Given the description of an element on the screen output the (x, y) to click on. 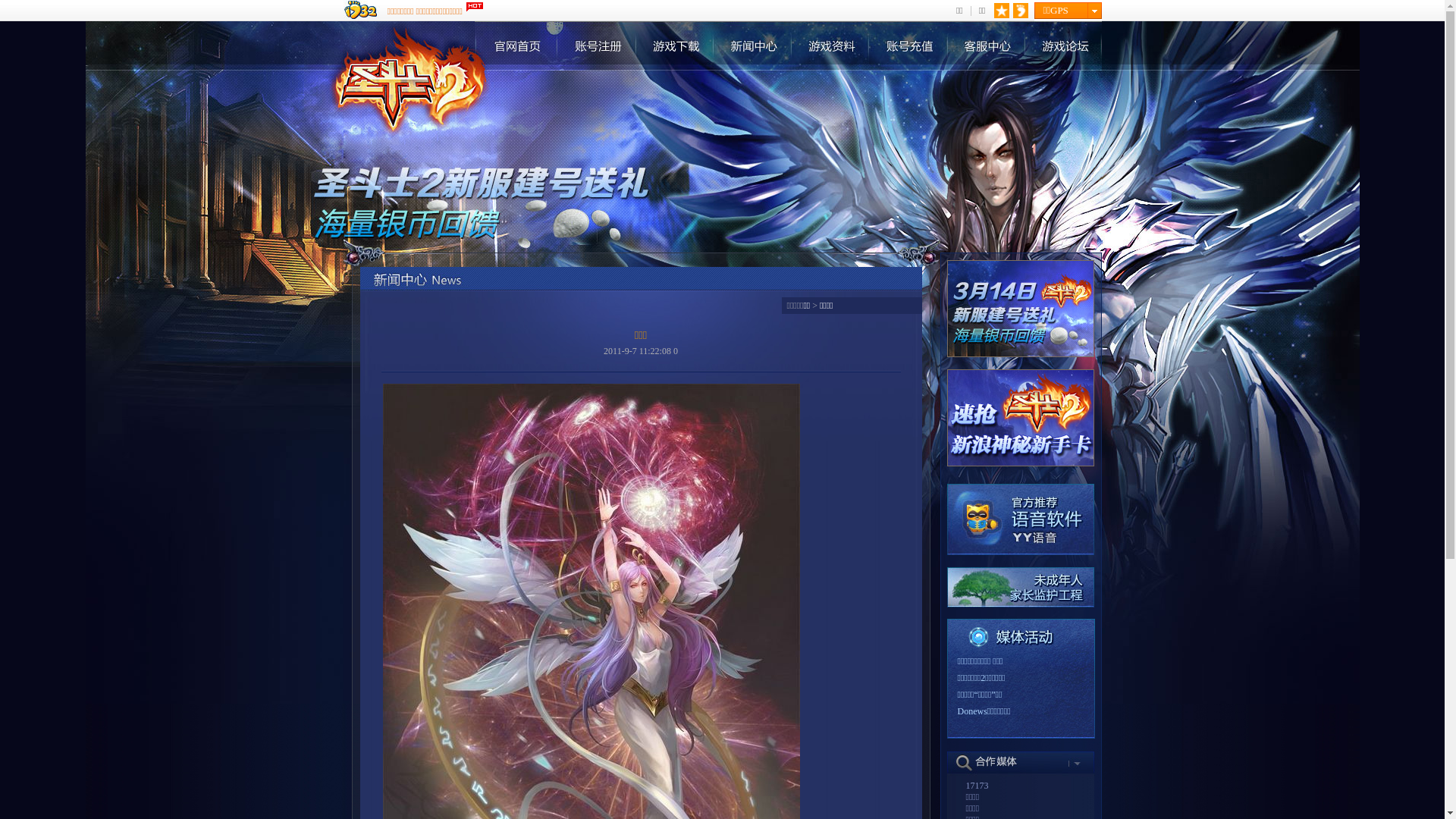
17173 Element type: text (977, 785)
